Given the description of an element on the screen output the (x, y) to click on. 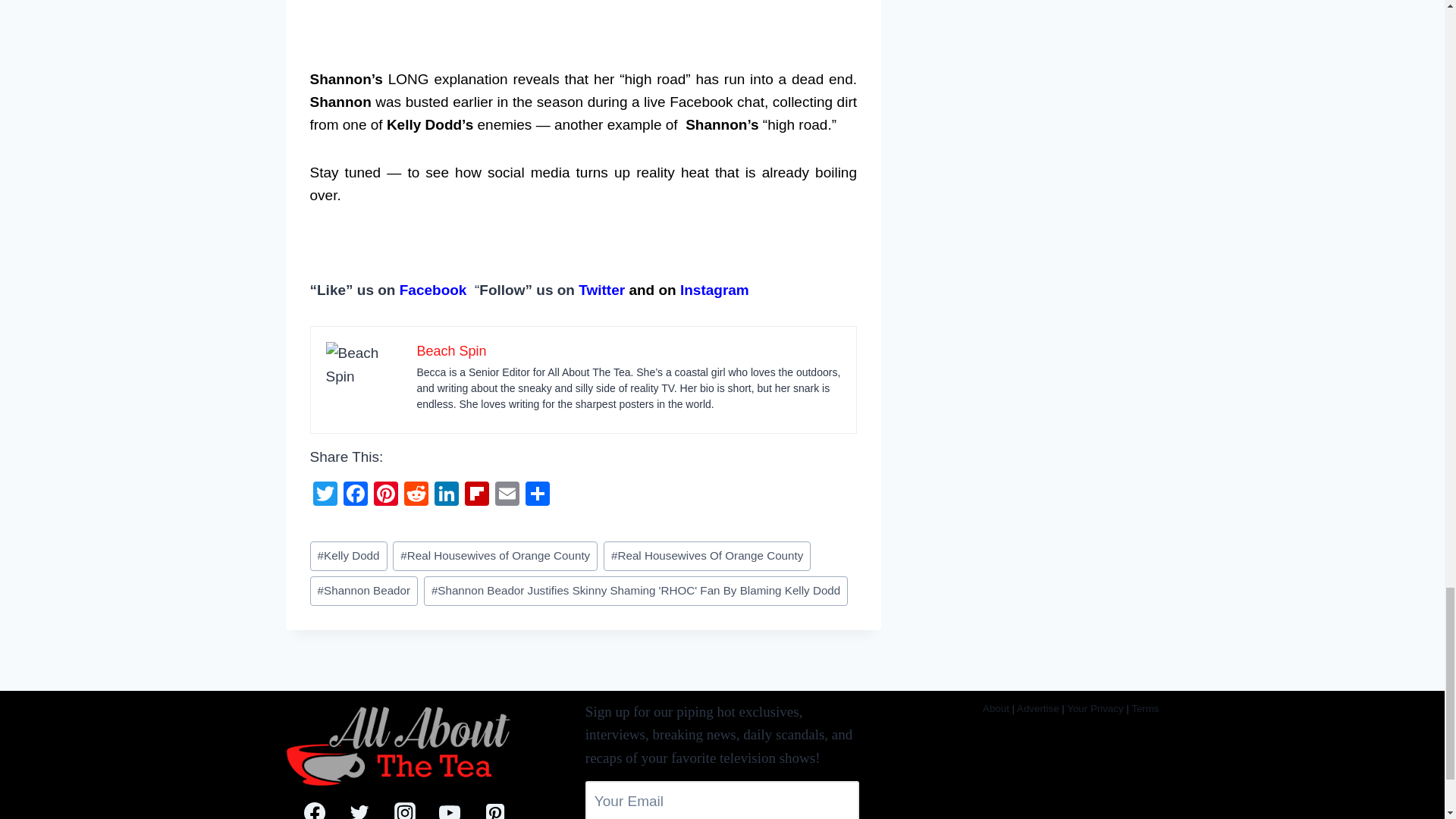
Instagram (714, 289)
Facebook (354, 495)
Twitter (323, 495)
Reddit (415, 495)
Twitter (601, 289)
Flipboard (476, 495)
Pinterest (384, 495)
LinkedIn (445, 495)
Facebook (432, 289)
